Given the description of an element on the screen output the (x, y) to click on. 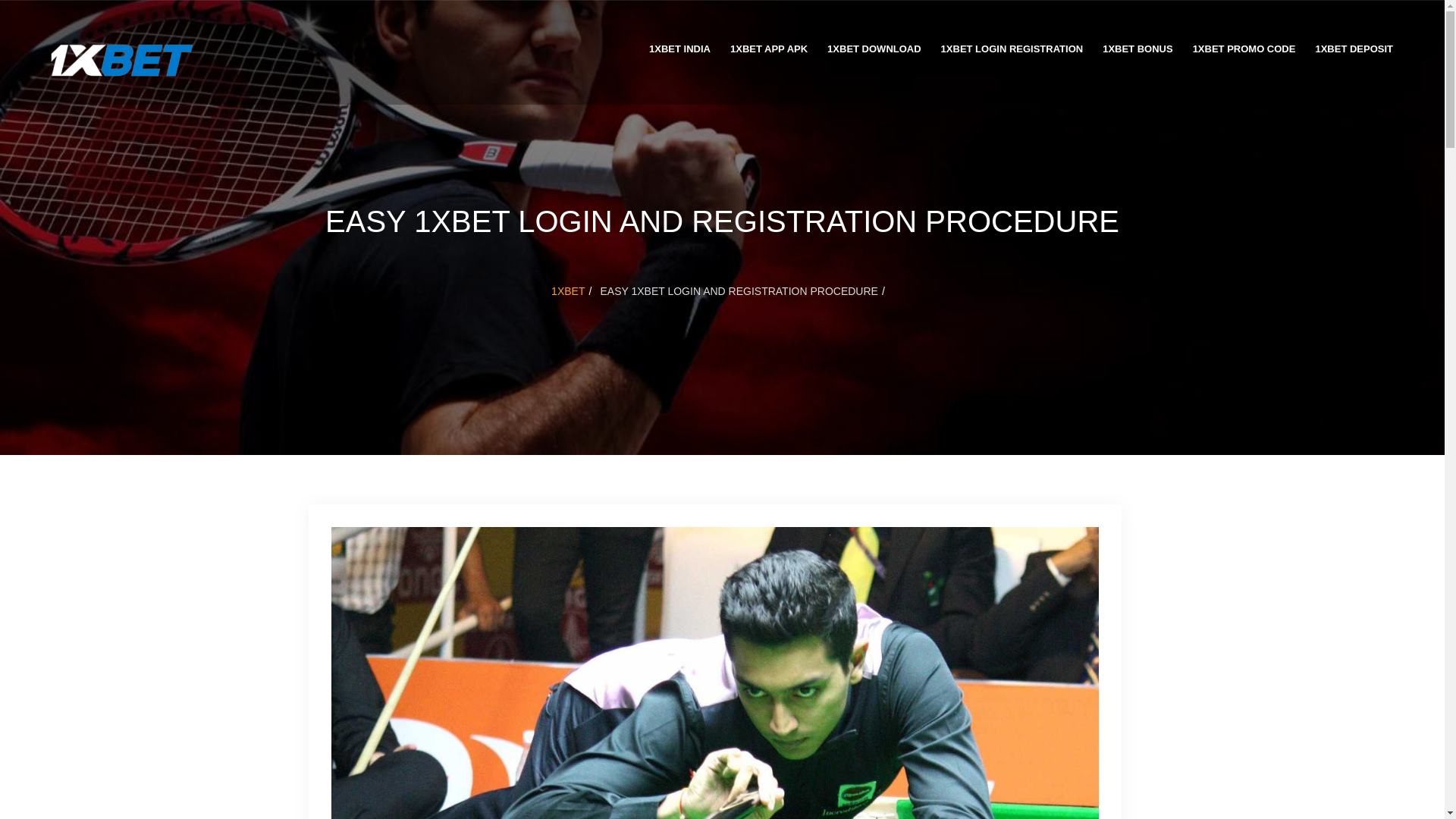
1XBET PROMO CODE Element type: text (1244, 52)
1XBET DOWNLOAD Element type: text (874, 52)
1XBET INDIA Element type: text (679, 52)
1XBET APP APK Element type: text (768, 52)
1XBET BONUS Element type: text (1137, 52)
1XBET DEPOSIT Element type: text (1353, 52)
1XBET LOGIN REGISTRATION Element type: text (1012, 52)
1XBET Element type: text (567, 290)
